Given the description of an element on the screen output the (x, y) to click on. 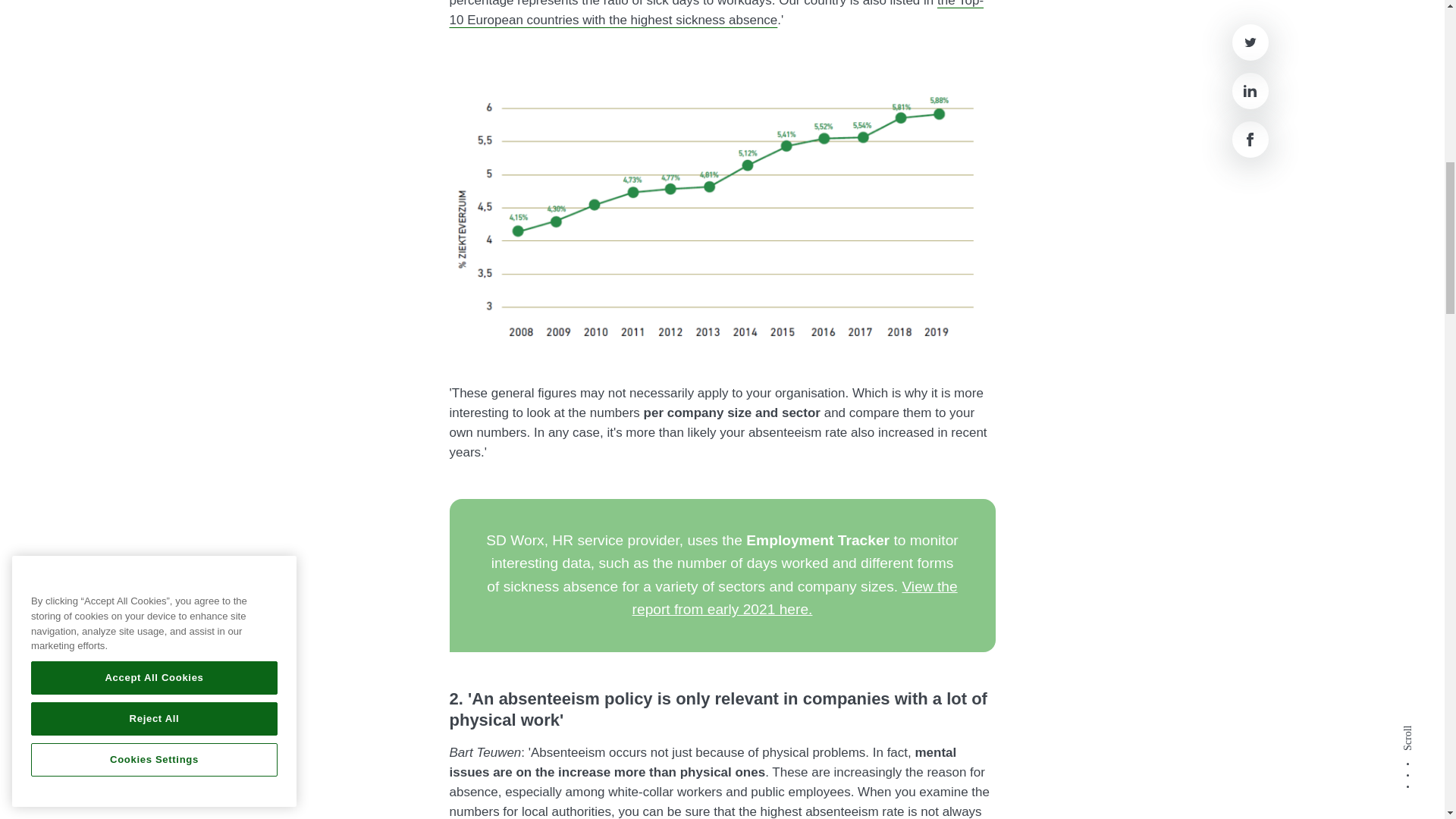
View the report from early 2021 here. (794, 597)
